Given the description of an element on the screen output the (x, y) to click on. 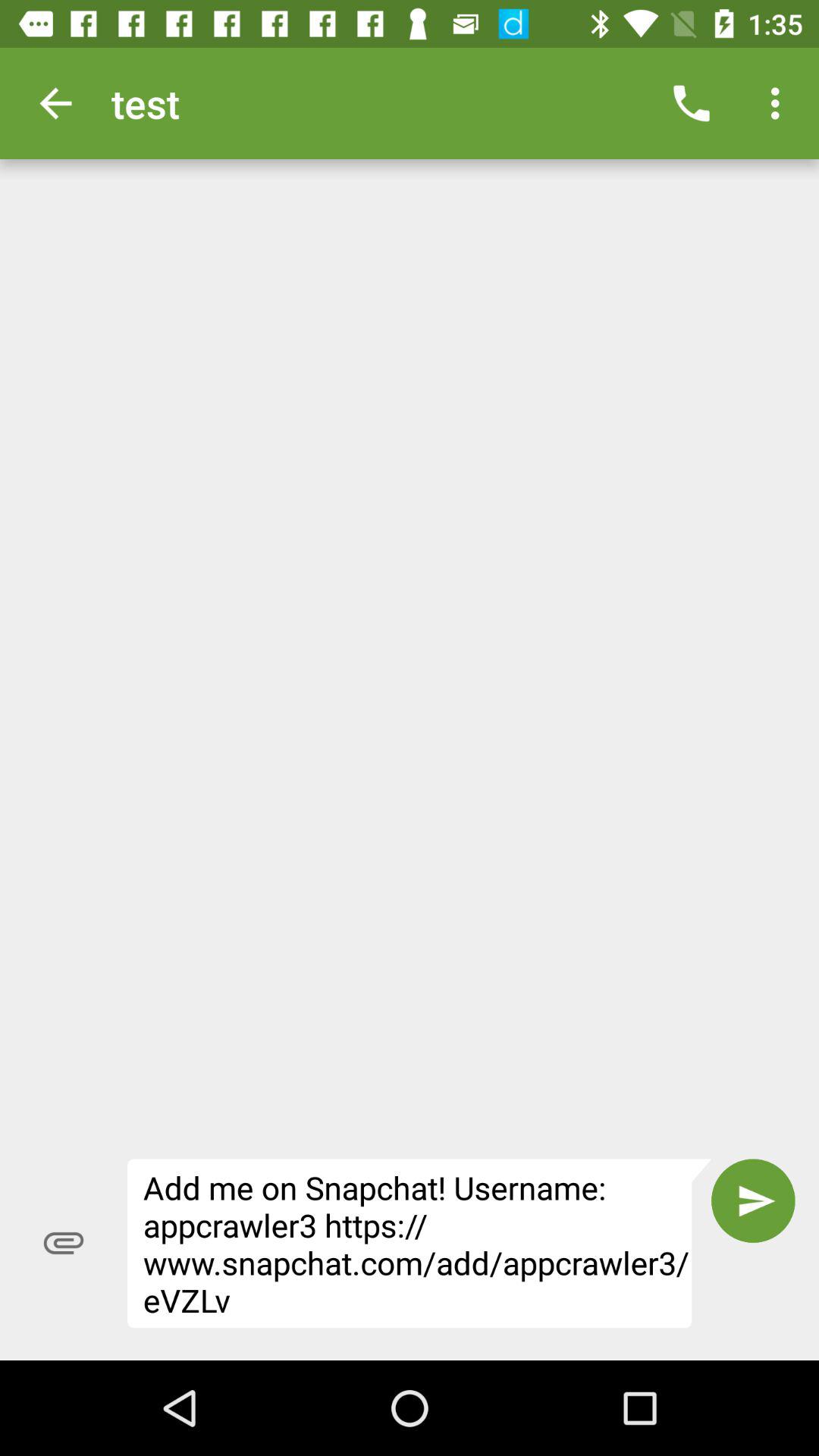
select the item to the right of add me on (753, 1200)
